Given the description of an element on the screen output the (x, y) to click on. 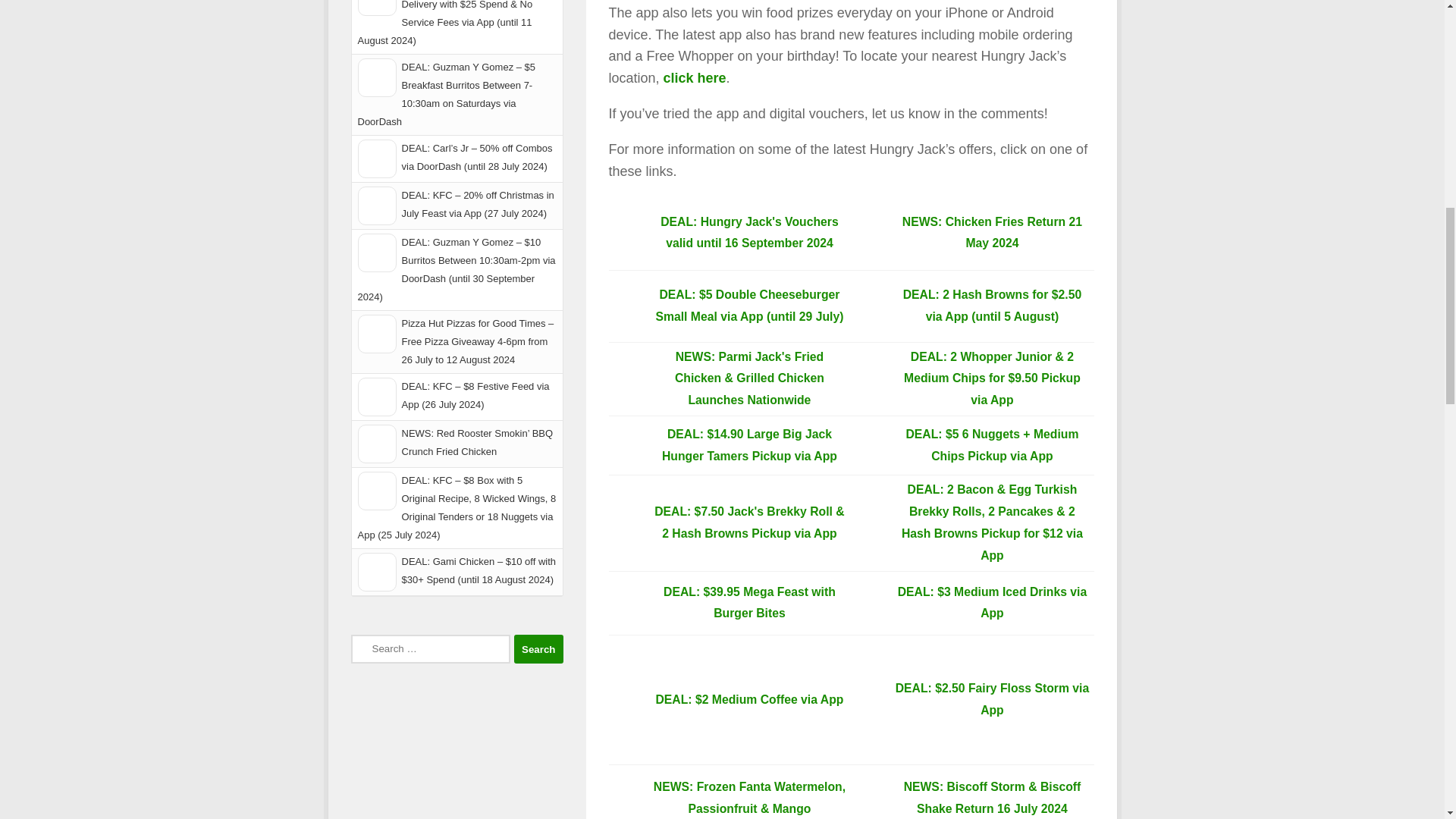
Search (537, 648)
Search (537, 648)
